Given the description of an element on the screen output the (x, y) to click on. 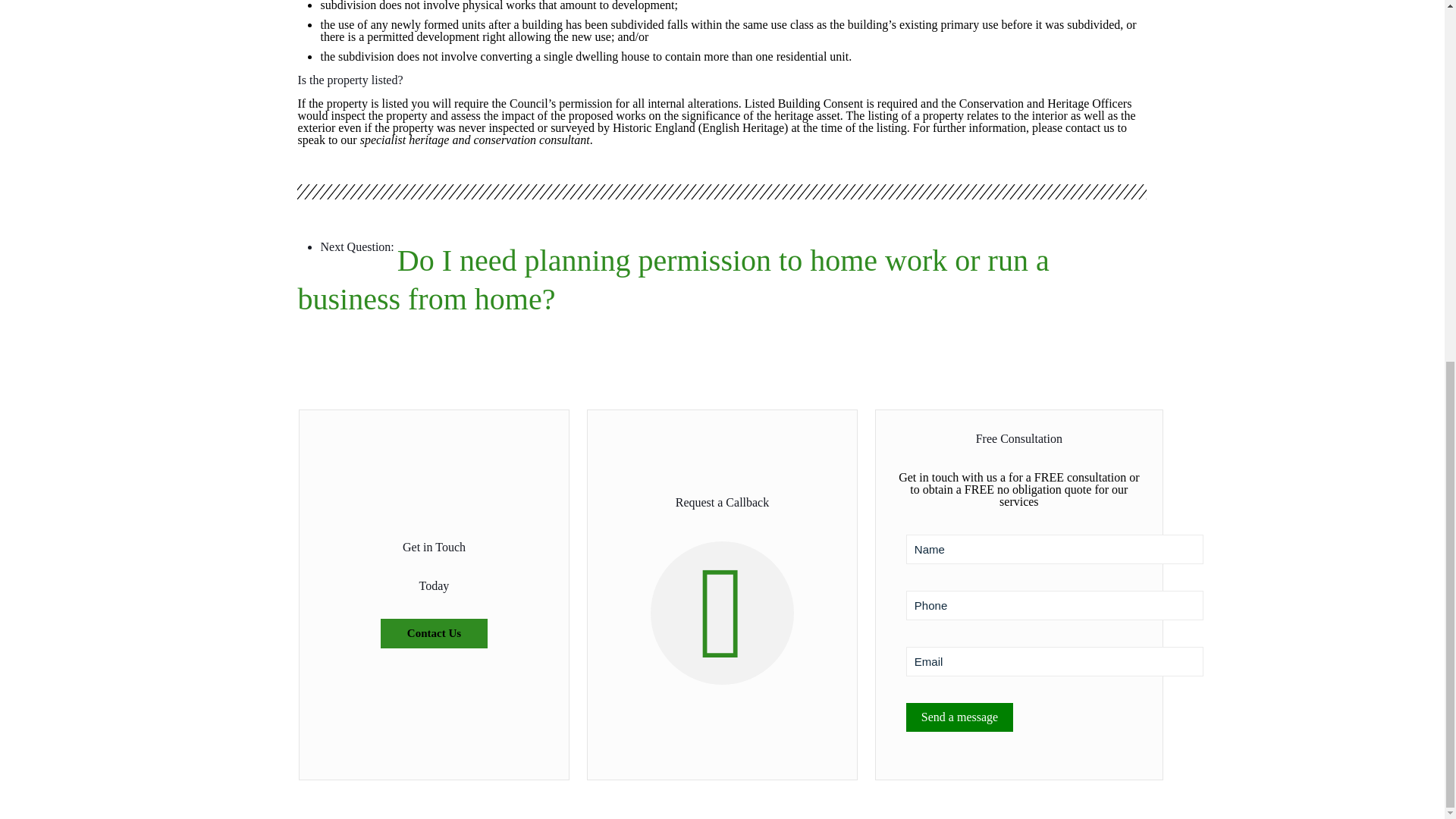
YouTube (722, 124)
Instagram (763, 124)
Facebook (680, 124)
Send a message (959, 717)
Twitter (702, 124)
LinkedIn (743, 124)
